Given the description of an element on the screen output the (x, y) to click on. 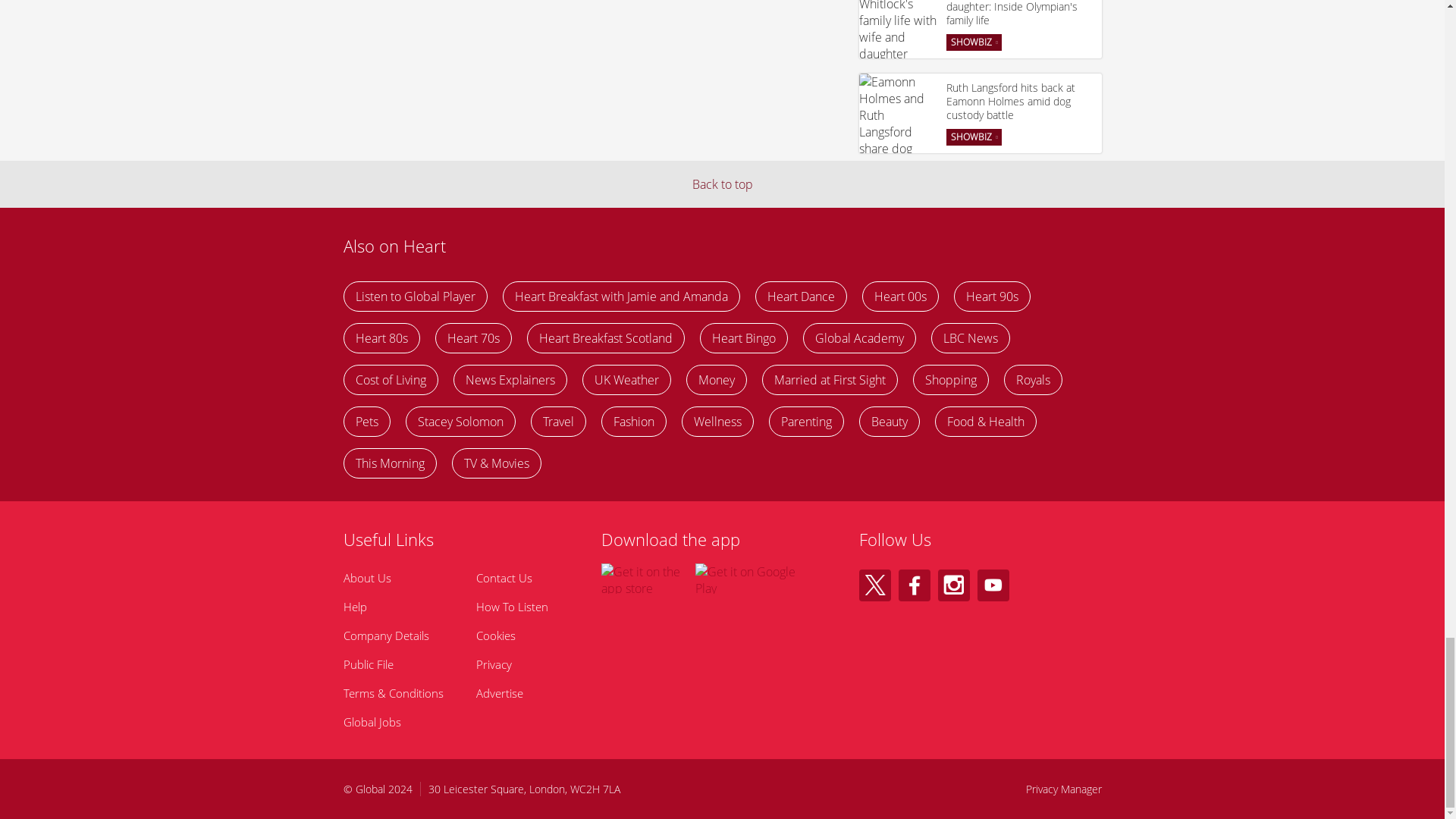
Follow Heart on Youtube (992, 585)
Follow Heart on Instagram (953, 585)
Follow Heart on X (874, 585)
Follow Heart on Facebook (914, 585)
Back to top (721, 184)
